Given the description of an element on the screen output the (x, y) to click on. 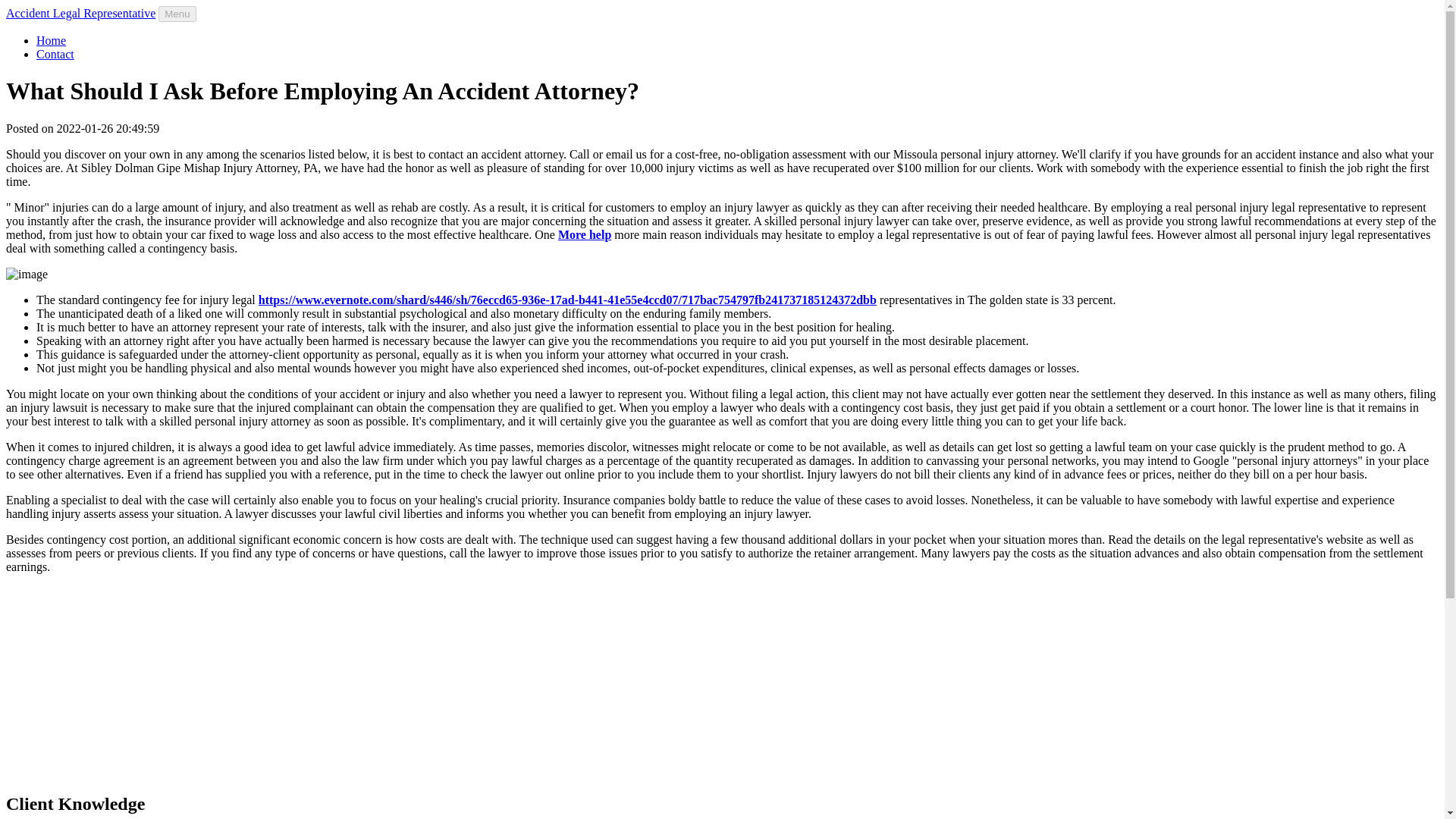
More help (584, 234)
Menu (176, 13)
Contact (55, 53)
Home (50, 40)
Accident Legal Representative (80, 12)
